Given the description of an element on the screen output the (x, y) to click on. 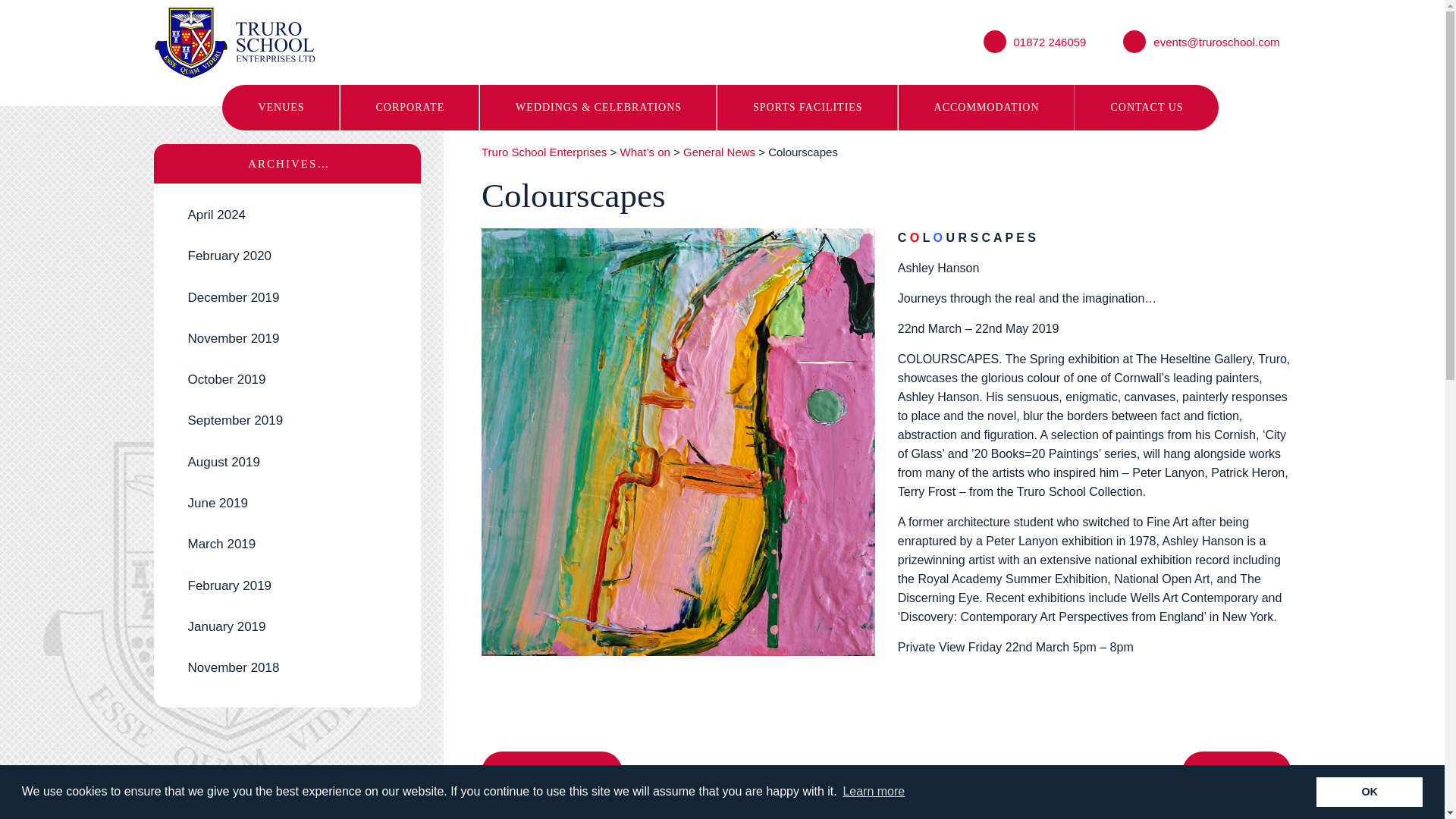
VENUES (280, 107)
Contact Us (1145, 107)
01872 246059 (1034, 41)
SPORTS FACILITIES (807, 107)
October 2019 (286, 379)
February 2020 (286, 255)
Accommodation (986, 107)
CORPORATE (410, 107)
01872 246059 (1034, 41)
OK (1369, 791)
Truro School Enterprises (233, 42)
December 2019 (286, 297)
Sports Facilities (807, 107)
Learn more (873, 791)
April 2024 (286, 214)
